Given the description of an element on the screen output the (x, y) to click on. 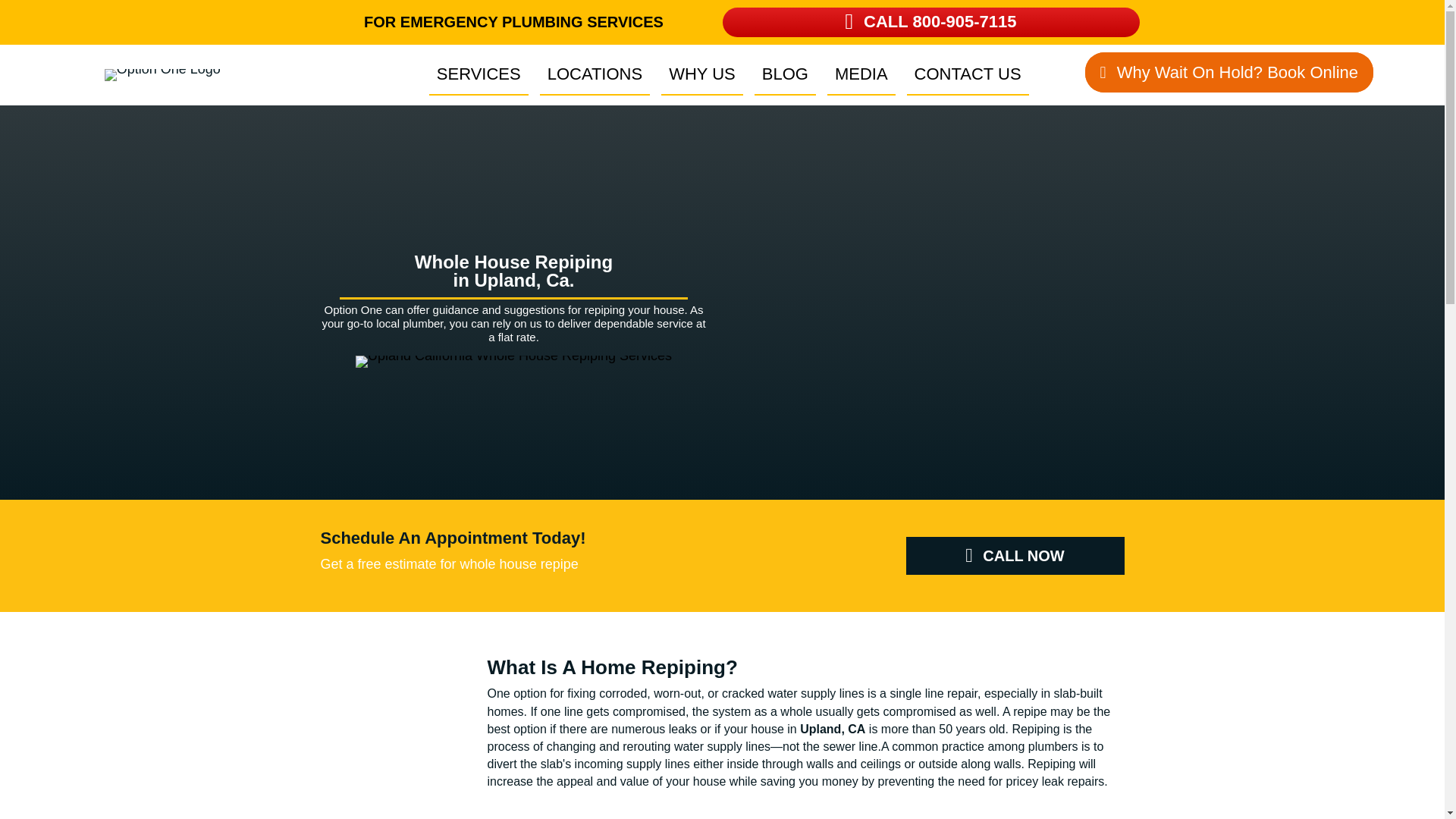
LOCATIONS (595, 74)
Option One Logo (162, 74)
Upland-California-Whole-House-Repiping-Services (513, 361)
CALL 800-905-7115 (930, 21)
SERVICES (478, 74)
